Given the description of an element on the screen output the (x, y) to click on. 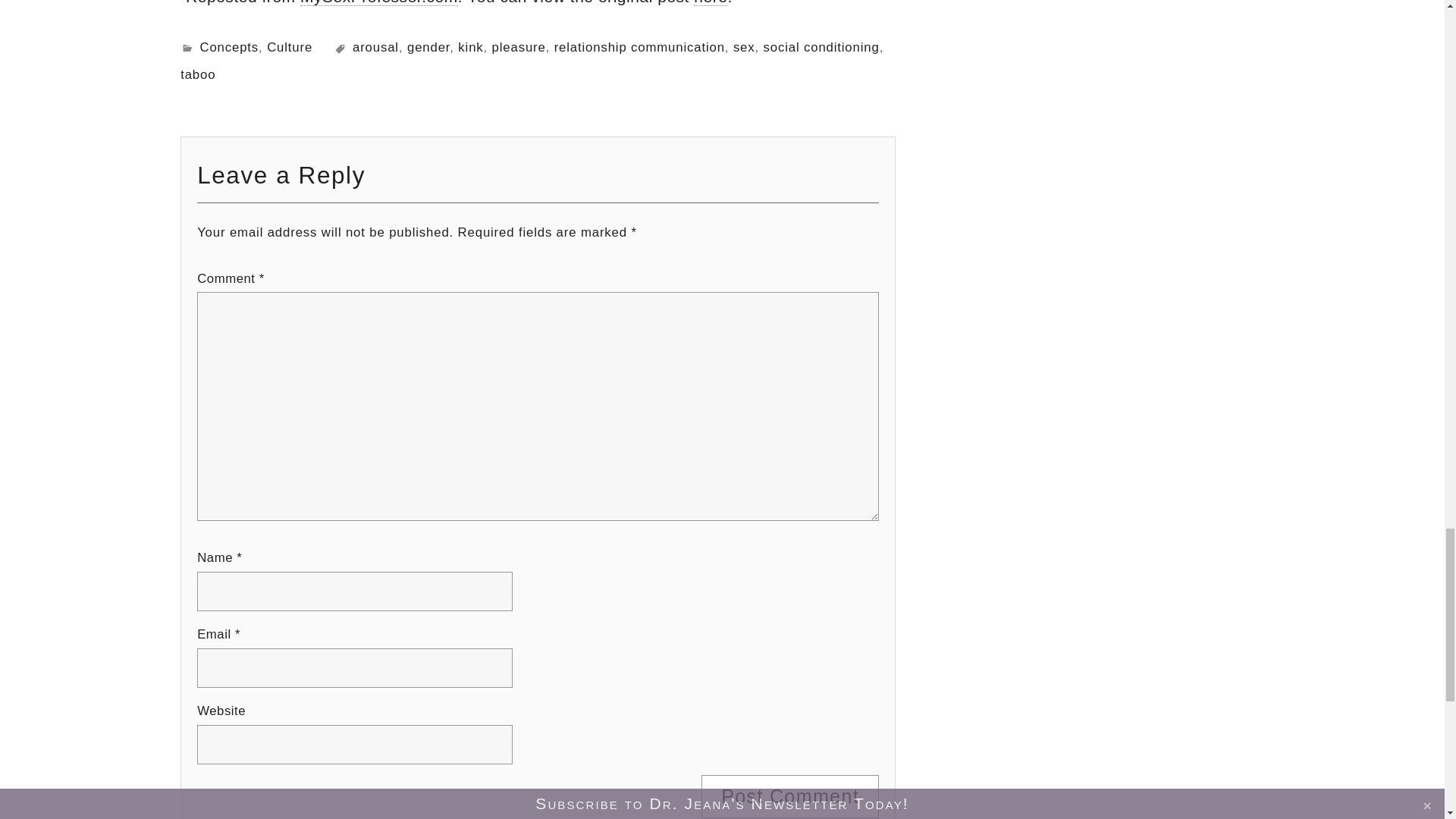
pleasure (519, 47)
here (710, 2)
arousal (375, 47)
Culture (289, 47)
sex (744, 47)
social conditioning (820, 47)
gender (428, 47)
taboo (197, 74)
MySexProfessor.com (378, 2)
kink (470, 47)
relationship communication (639, 47)
Post Comment (790, 796)
Concepts (229, 47)
